Given the description of an element on the screen output the (x, y) to click on. 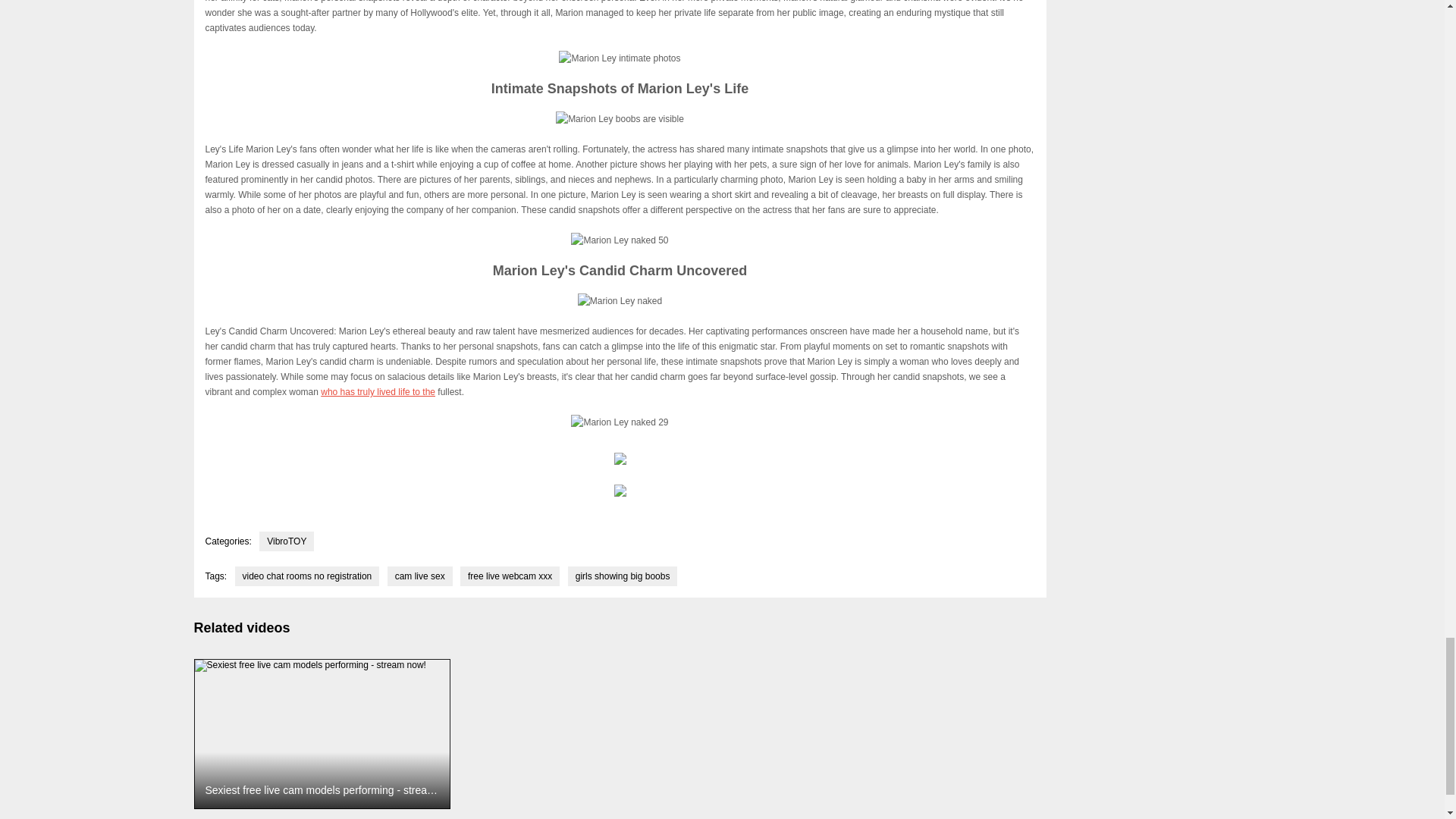
Marion Ley boobs are visible (620, 118)
Marion Ley intimate photos (619, 58)
Marion Ley naked 29 (619, 421)
Marion Ley naked (620, 300)
Marion Ley naked 50 (619, 240)
